Given the description of an element on the screen output the (x, y) to click on. 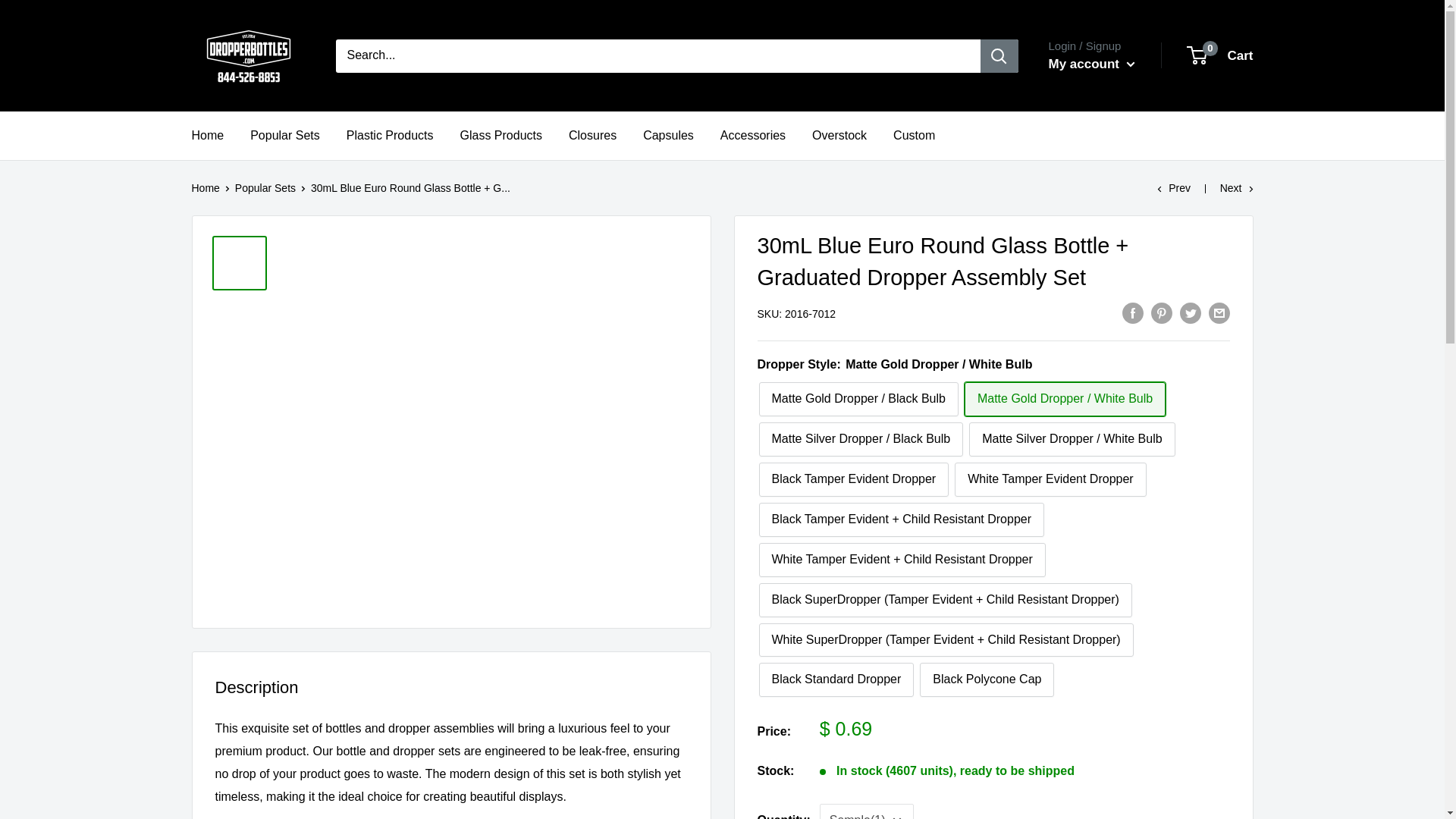
White Tamper Evident Dropper (1050, 479)
Overstock (839, 135)
Closures (592, 135)
Black Standard Dropper (836, 679)
Black Polycone Cap (987, 679)
Plastic Products (389, 135)
Popular Sets (285, 135)
My account (1091, 64)
Glass Products (500, 135)
Prev (1174, 187)
